Given the description of an element on the screen output the (x, y) to click on. 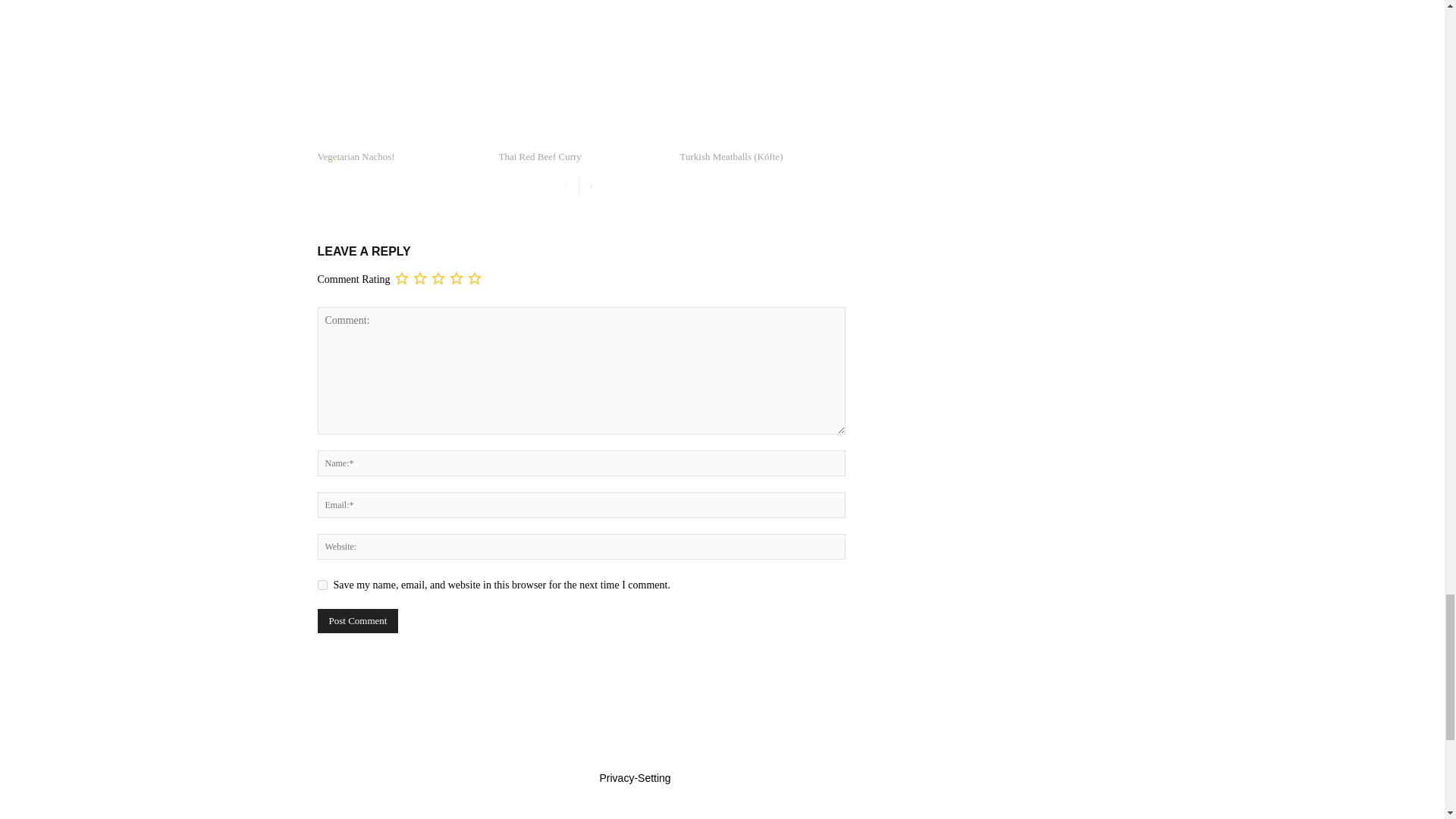
Post Comment (357, 621)
yes (321, 584)
